Given the description of an element on the screen output the (x, y) to click on. 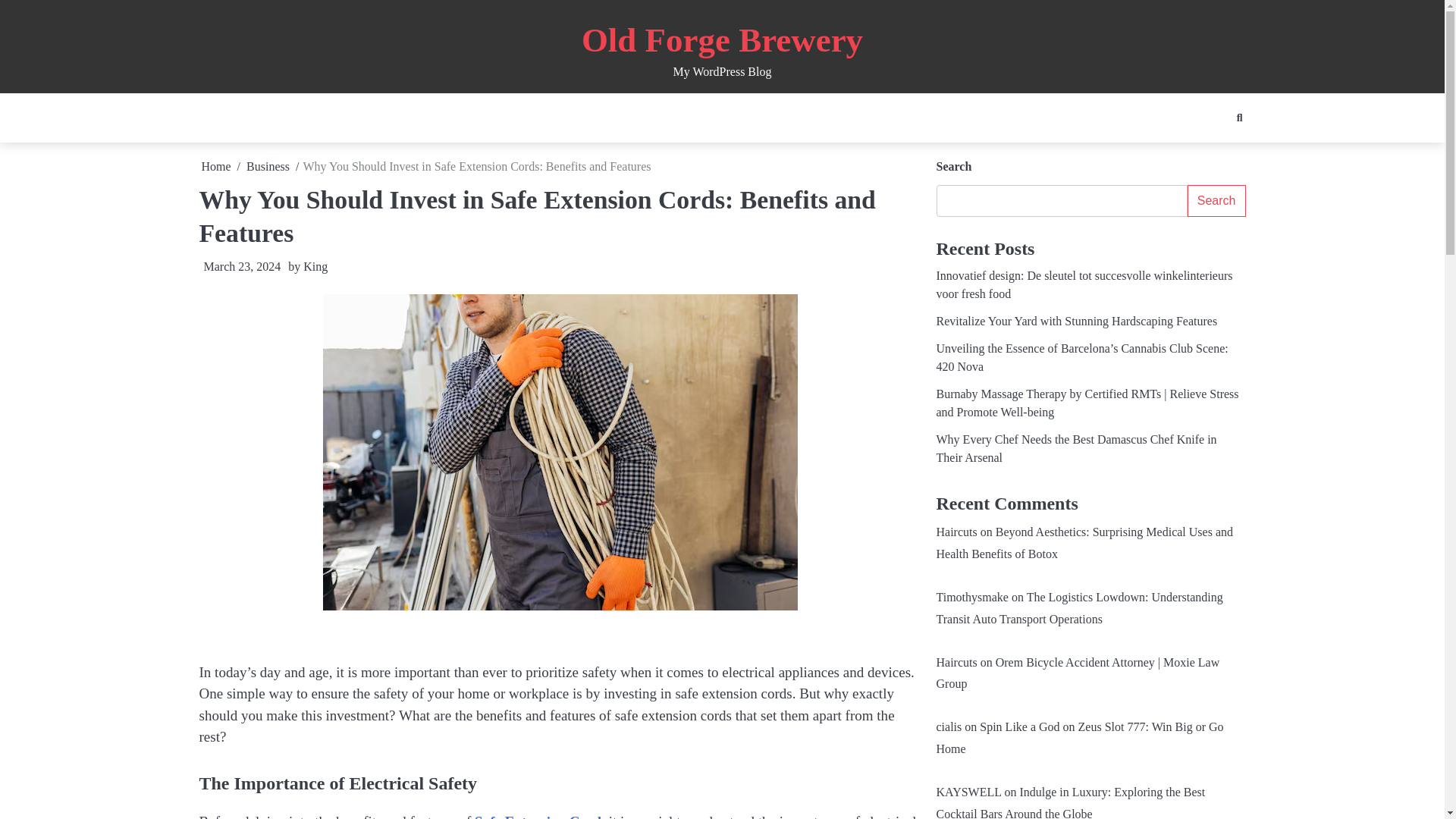
Haircuts (956, 531)
Search (1210, 149)
Business (267, 165)
King (314, 266)
Home (216, 165)
Safe Extension Cord (537, 816)
Search (1217, 201)
March 23, 2024 (239, 266)
Old Forge Brewery (721, 39)
Timothysmake (971, 596)
Haircuts (956, 662)
